Given the description of an element on the screen output the (x, y) to click on. 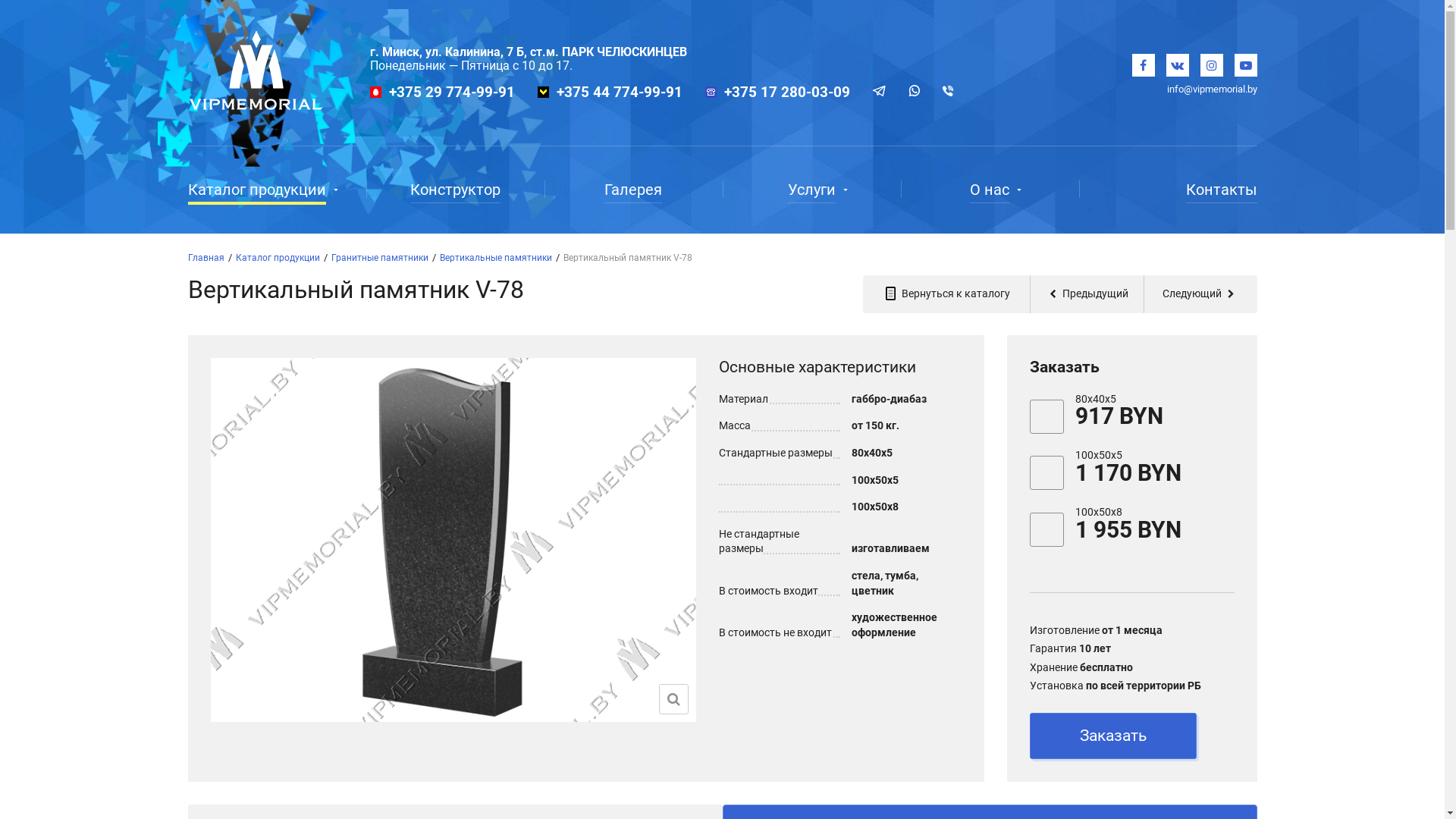
+375 17 280-03-09 Element type: text (786, 92)
+375 29 774-99-91 Element type: text (451, 92)
info@vipmemorial.by Element type: text (1211, 88)
+375 44 774-99-91 Element type: text (619, 92)
